Given the description of an element on the screen output the (x, y) to click on. 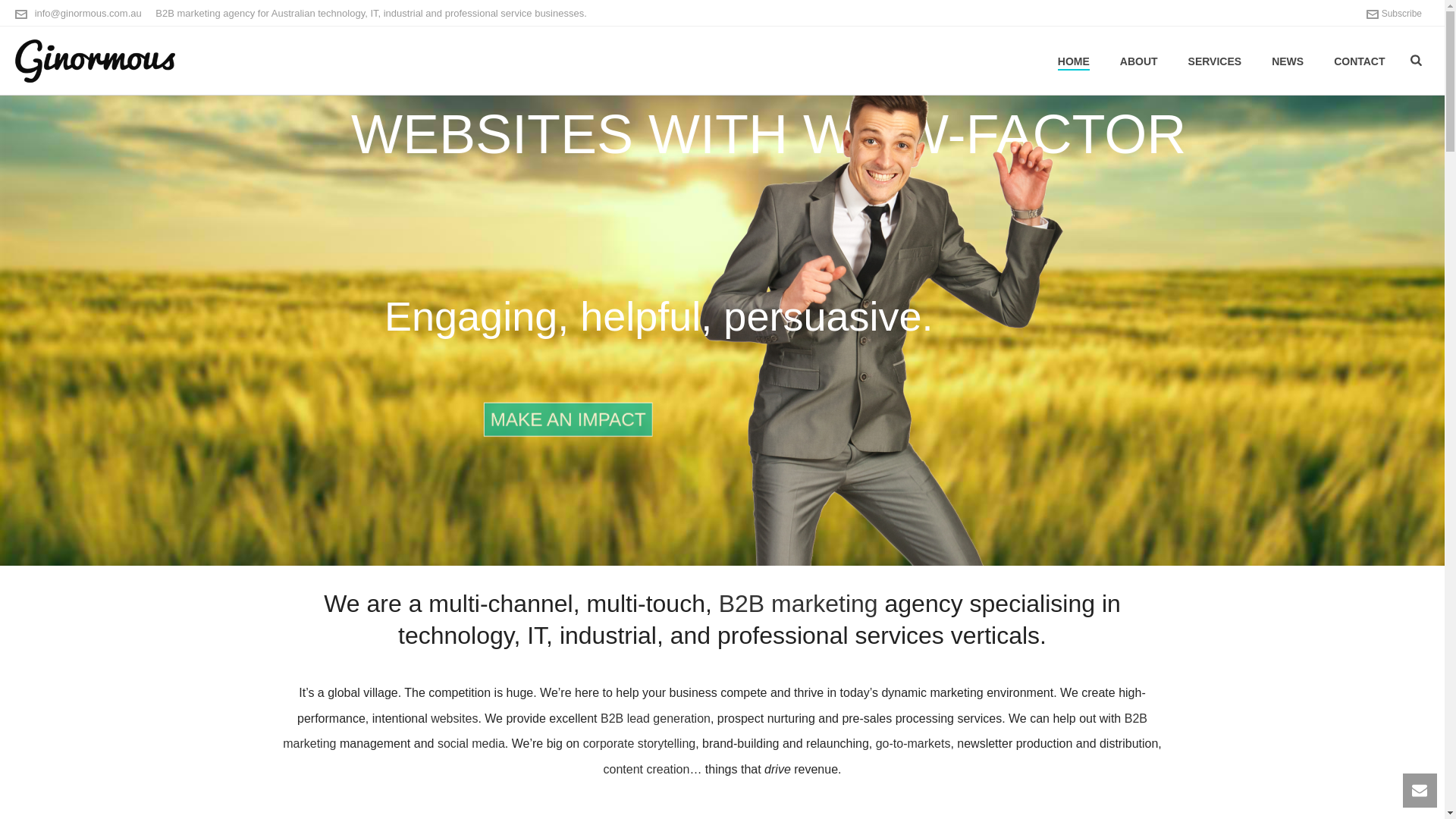
websites Element type: text (453, 718)
content creation Element type: text (646, 768)
corporate storytelling Element type: text (639, 743)
info@ginormous.com.au Element type: text (87, 12)
Subscribe Element type: text (1393, 13)
B2B marketing Element type: text (798, 603)
SERVICES Element type: text (1215, 61)
CONTACT Element type: text (1358, 61)
ABOUT Element type: text (1138, 61)
go-to-markets Element type: text (912, 743)
social media Element type: text (471, 743)
B2B lead generation Element type: text (655, 718)
HOME Element type: text (1073, 61)
B2B marketing Element type: text (714, 731)
NEWS Element type: text (1287, 61)
